Given the description of an element on the screen output the (x, y) to click on. 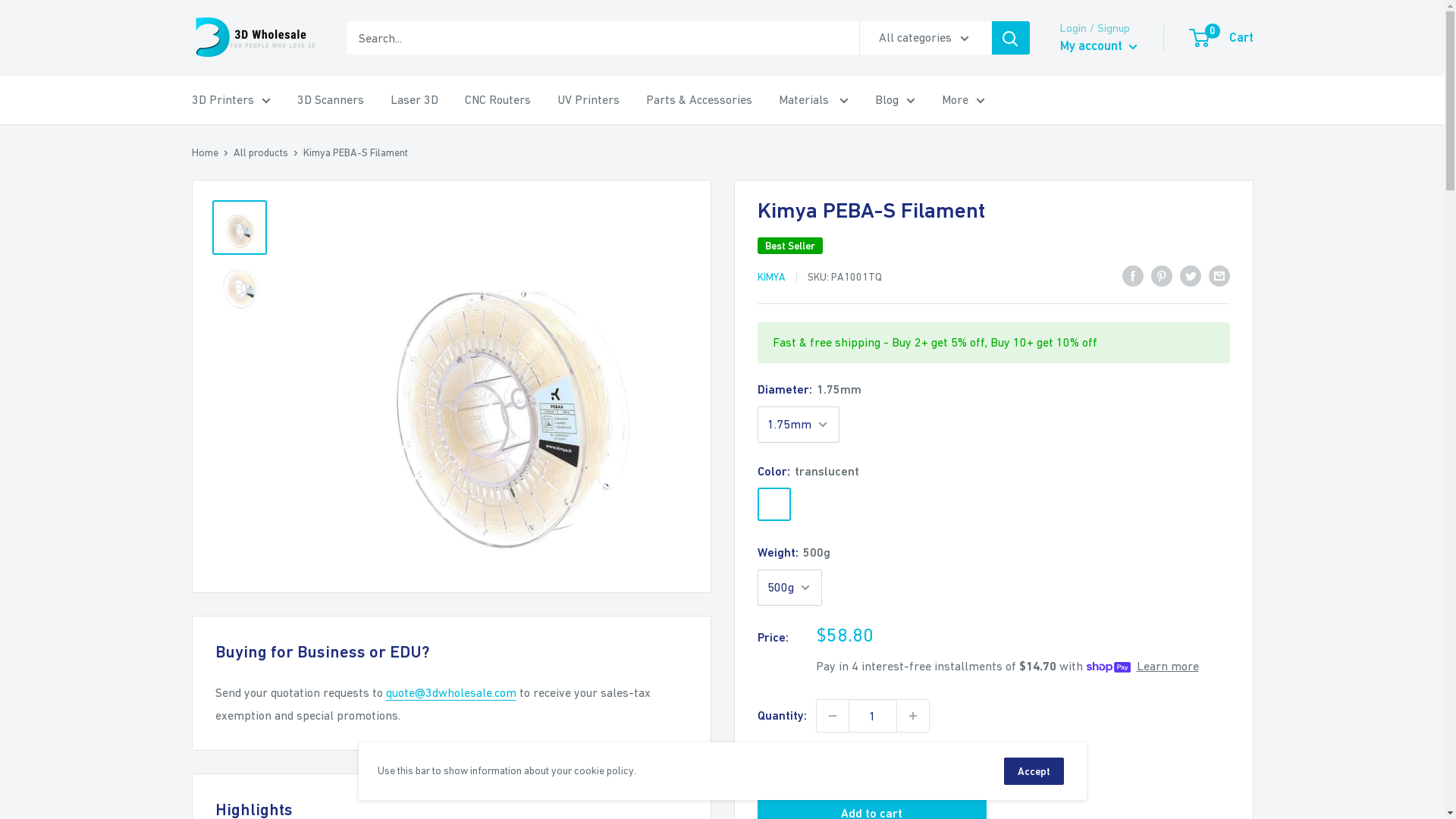
Materials Element type: text (812, 99)
3D Scanners Element type: text (330, 99)
Blog Element type: text (895, 99)
Home Element type: text (204, 152)
Decrease quantity by 1 Element type: hover (831, 715)
UV Printers Element type: text (587, 99)
3D Wholesale Element type: text (253, 37)
My account Element type: text (1098, 46)
Parts & Accessories Element type: text (699, 99)
More Element type: text (963, 99)
Accept Element type: text (1033, 770)
CNC Routers Element type: text (497, 99)
KIMYA Element type: text (770, 276)
quote@3dwholesale.com Element type: text (450, 692)
Laser 3D Element type: text (413, 99)
All products Element type: text (260, 152)
3D Printers Element type: text (230, 99)
Increase quantity by 1 Element type: hover (912, 715)
0
Cart Element type: text (1221, 37)
